Given the description of an element on the screen output the (x, y) to click on. 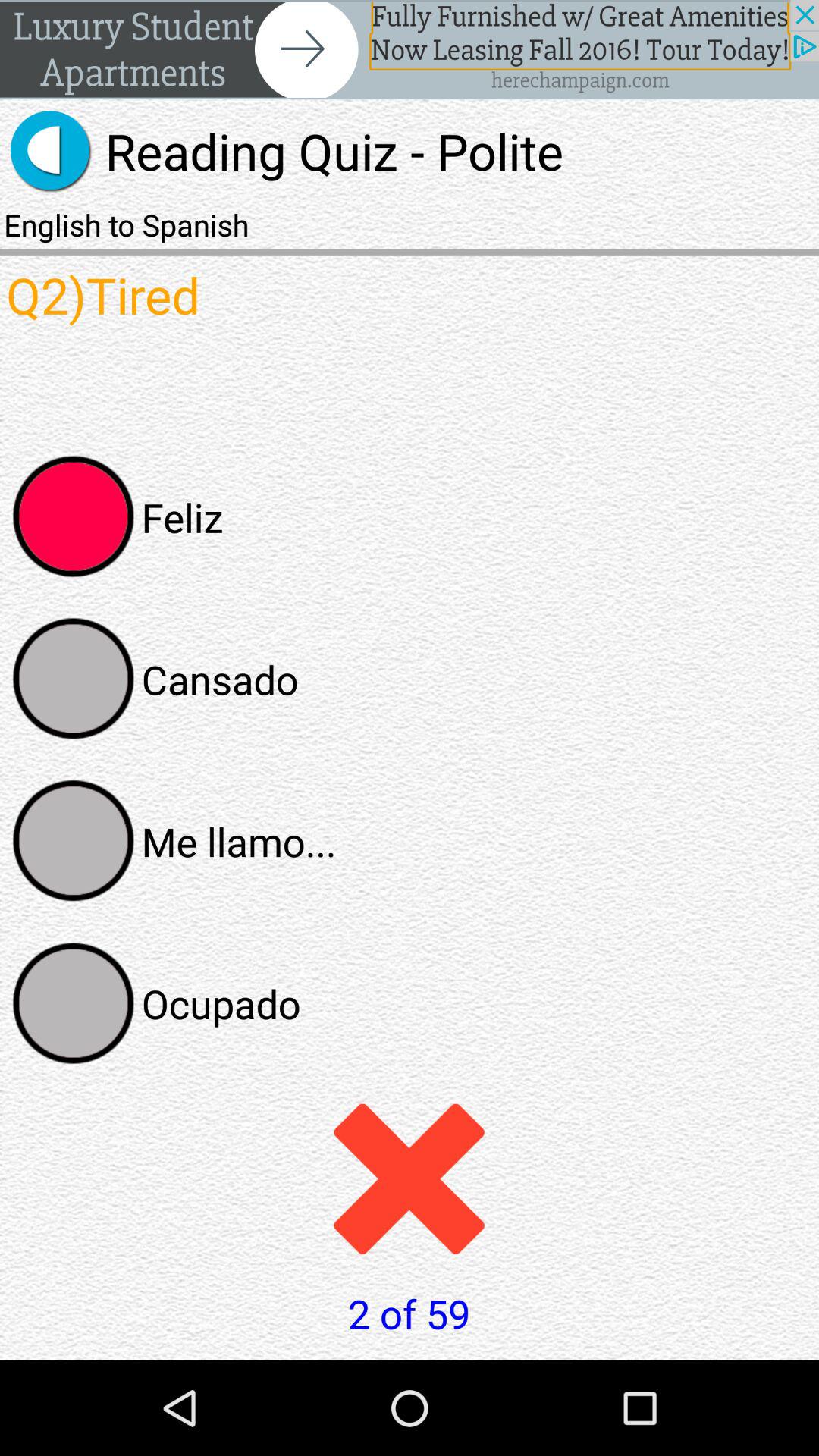
advertisement (409, 49)
